Given the description of an element on the screen output the (x, y) to click on. 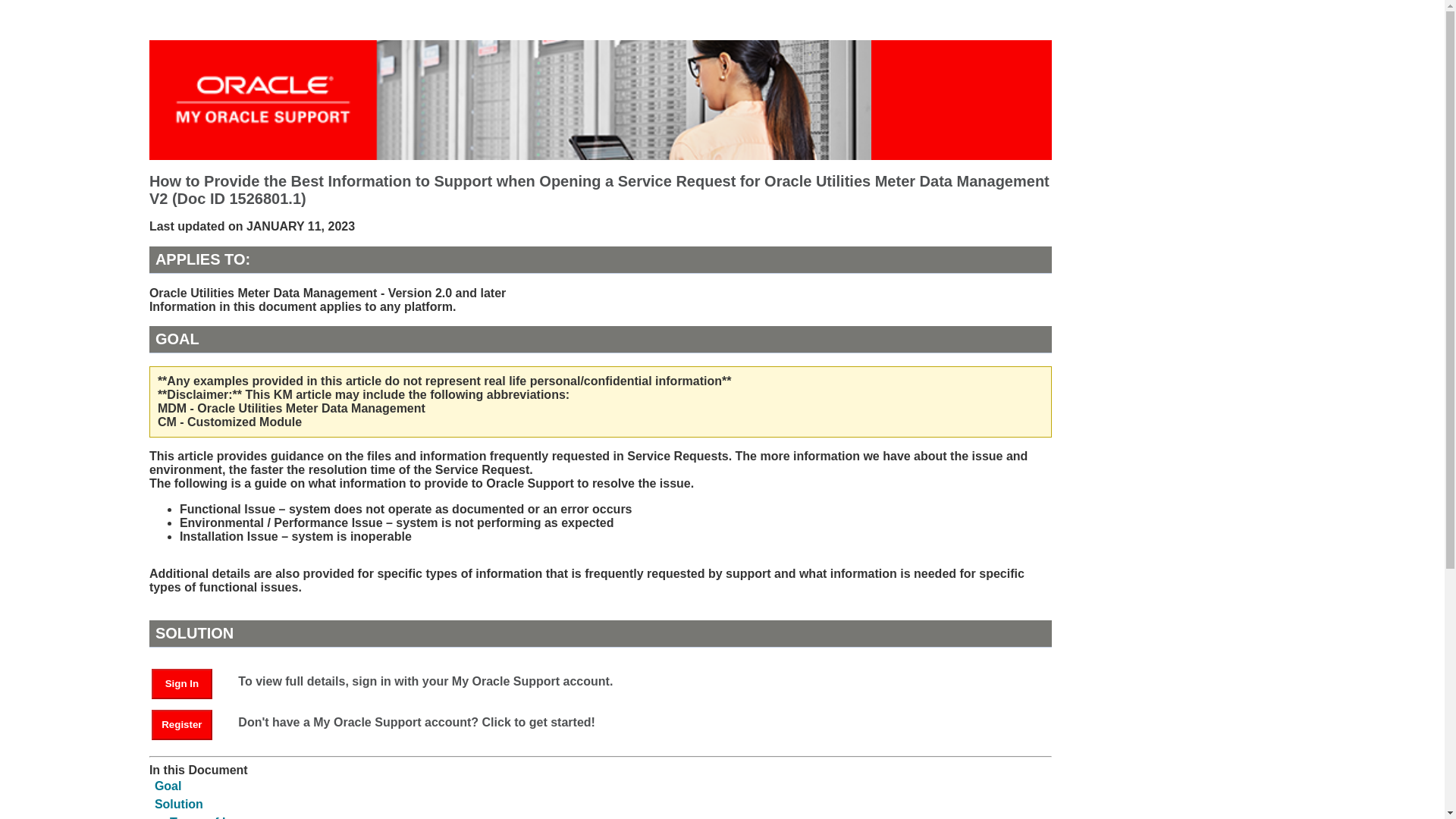
Sign In (181, 684)
Solution (178, 803)
Goal (168, 785)
Register (181, 725)
Sign In (189, 682)
Register (189, 723)
Types of Issues (215, 817)
